Given the description of an element on the screen output the (x, y) to click on. 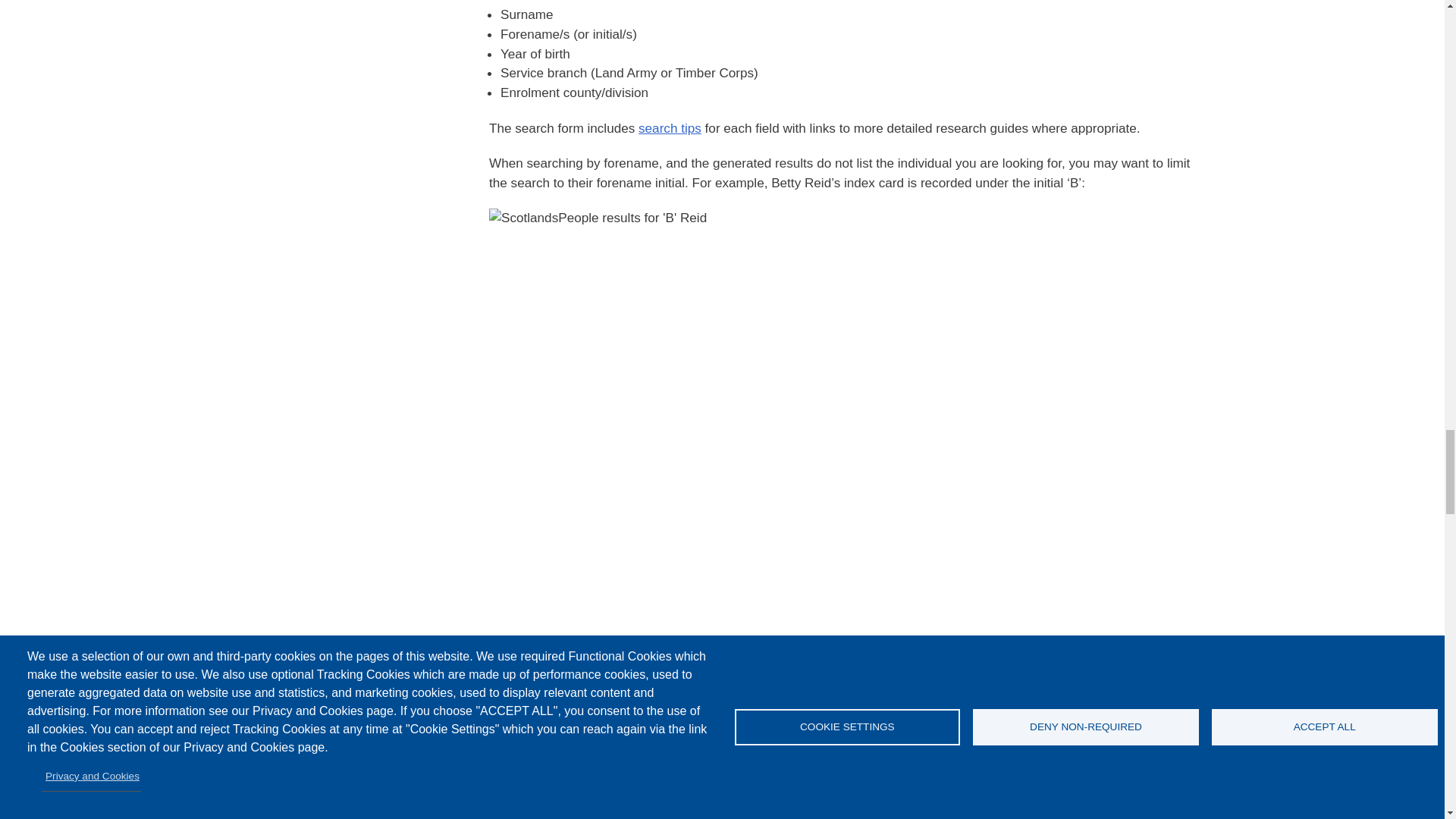
search tips (670, 127)
